Given the description of an element on the screen output the (x, y) to click on. 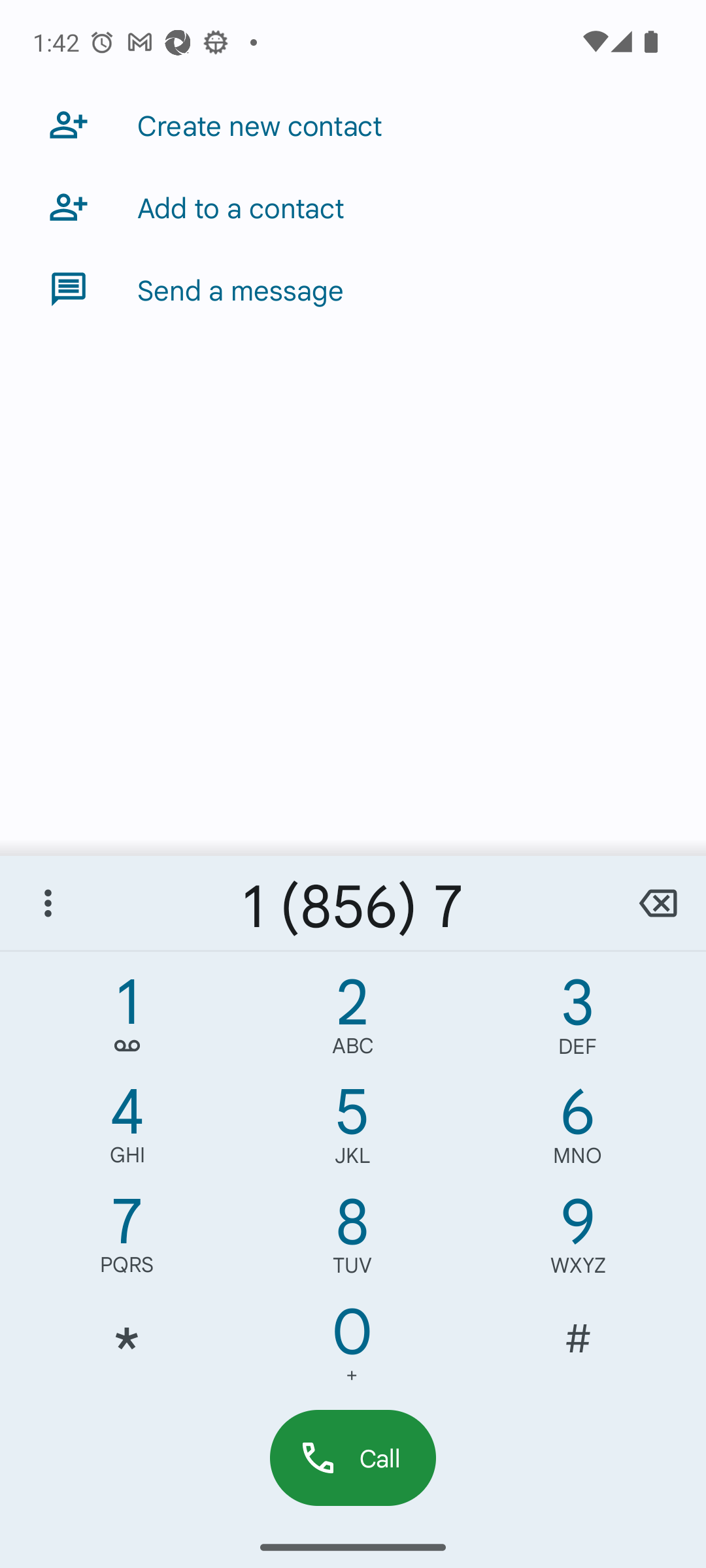
Create new contact (353, 124)
Add to a contact (353, 206)
Send a message (353, 288)
More options (48, 903)
1 (856) 7 (352, 903)
backspace (657, 903)
1, 1 (127, 1020)
2,ABC 2 ABC (352, 1020)
3,DEF 3 DEF (578, 1020)
4,GHI 4 GHI (127, 1130)
5,JKL 5 JKL (352, 1130)
6,MNO 6 MNO (578, 1130)
7,PQRS 7 PQRS (127, 1240)
8,TUV 8 TUV (352, 1240)
9,WXYZ 9 WXYZ (578, 1240)
* (127, 1349)
0 0 + (352, 1349)
# (578, 1349)
Call dial (352, 1457)
